Given the description of an element on the screen output the (x, y) to click on. 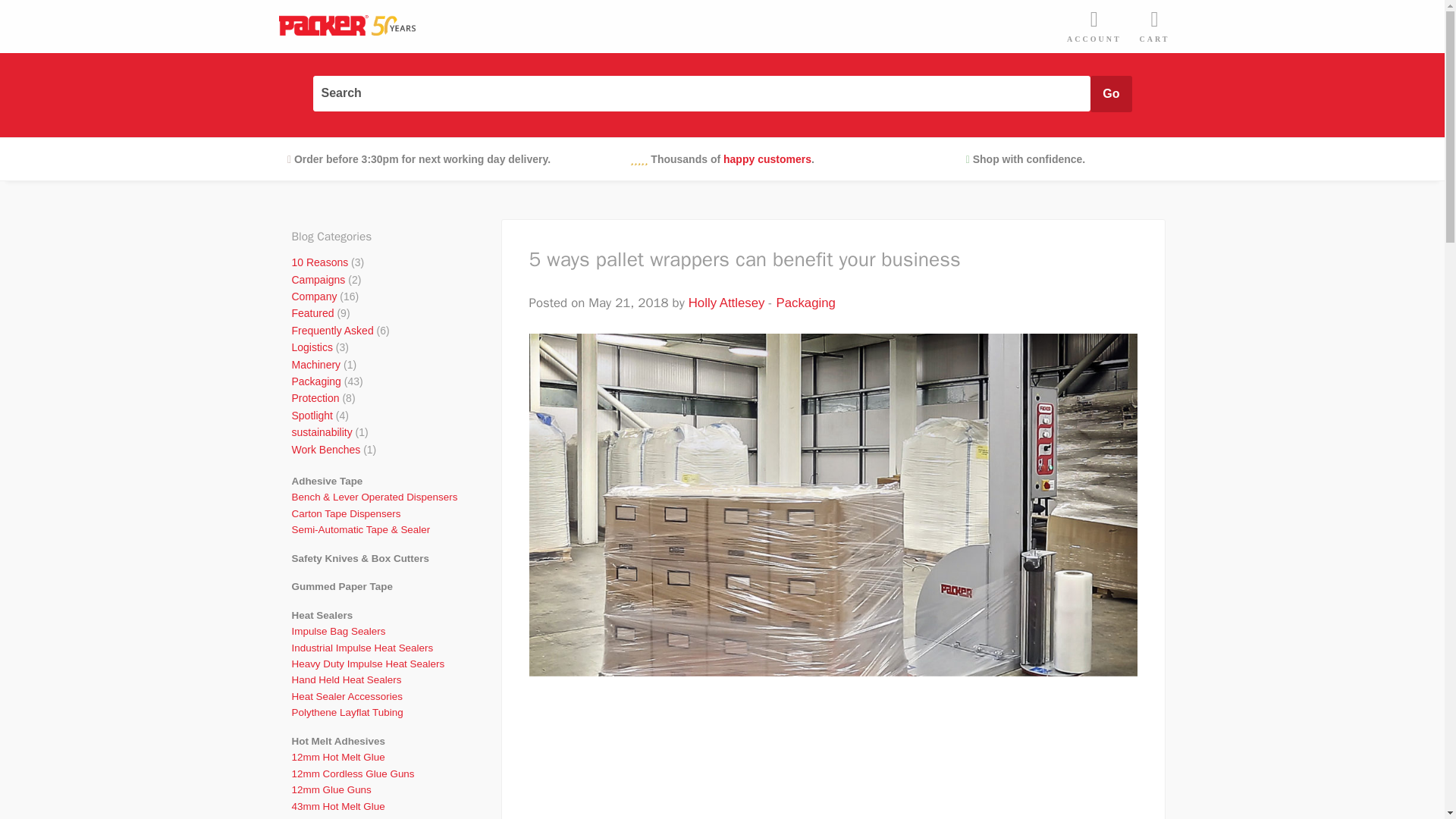
Hot Melt Adhesives (374, 741)
Gummed Paper Tape (374, 586)
Packaging (315, 381)
Industrial Impulse Heat Sealers (374, 647)
Work Benches (325, 449)
43mm Glue Guns (374, 816)
Impulse Bag Sealers (374, 631)
Frequently Asked (331, 330)
Carton Tape Dispensers (374, 513)
Impulse Bag Sealers (374, 631)
